Given the description of an element on the screen output the (x, y) to click on. 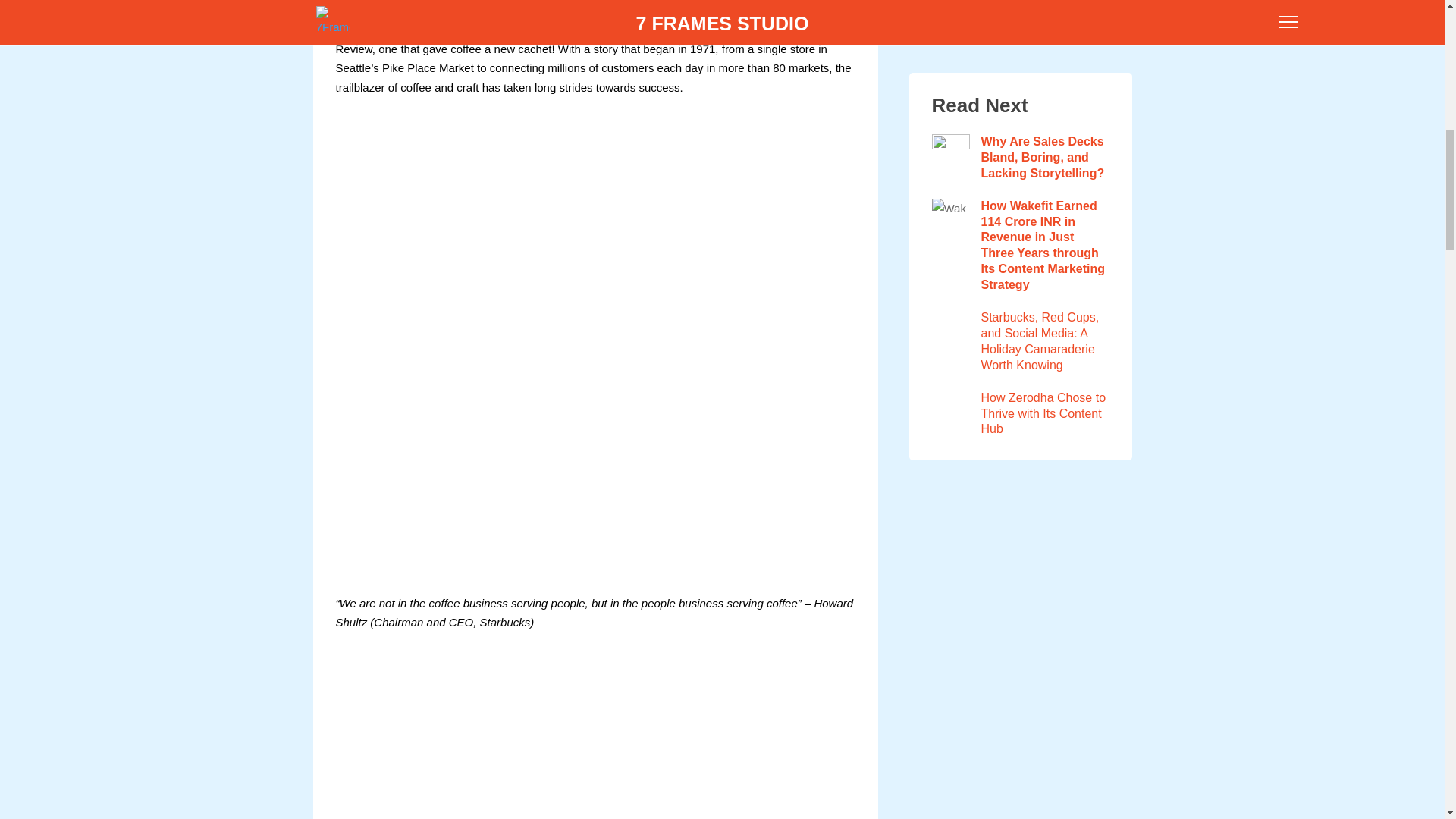
How Zerodha Chose to Thrive with Its Content Hub (1019, 146)
